Given the description of an element on the screen output the (x, y) to click on. 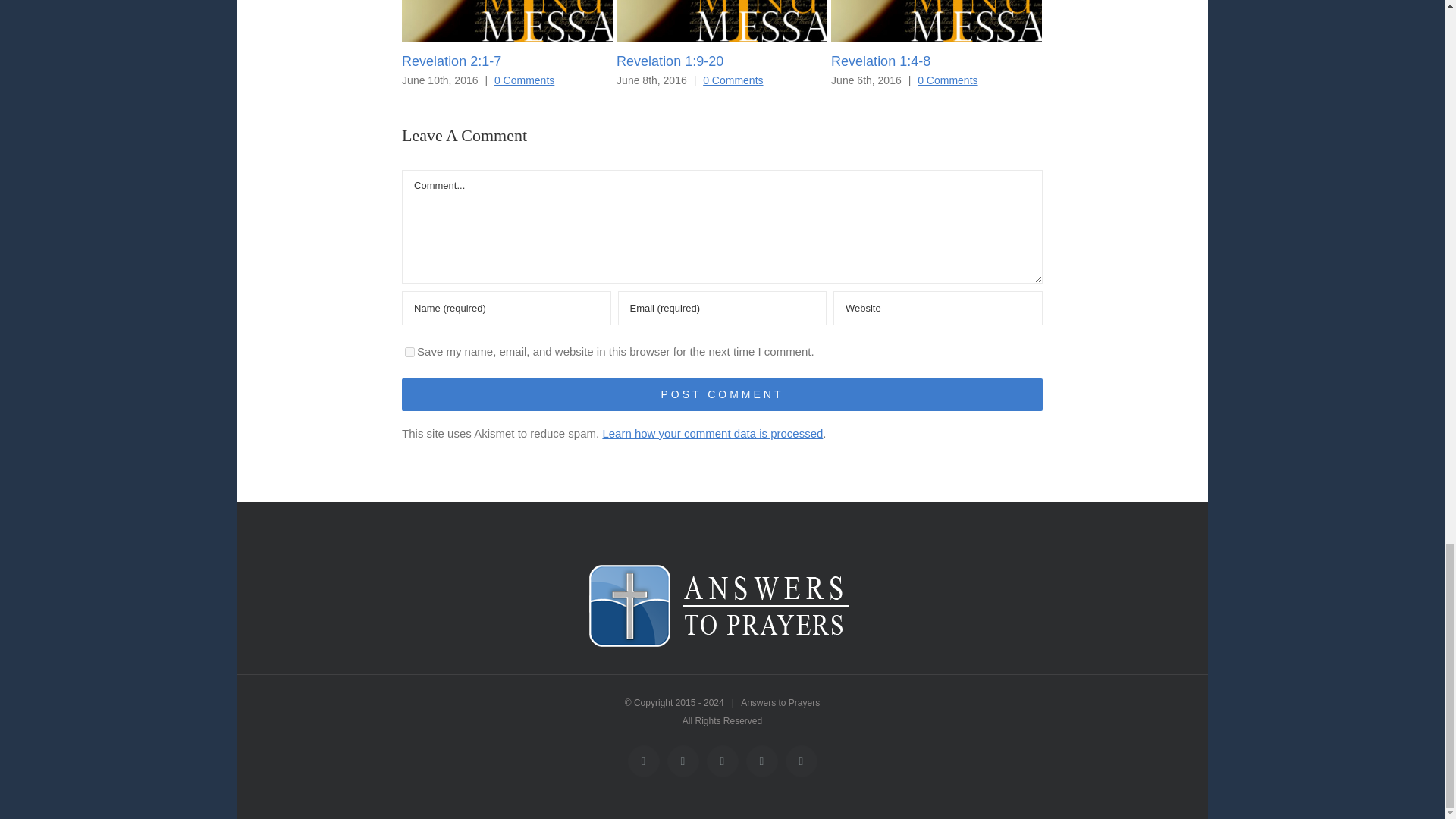
Post Comment (721, 394)
Revelation 2:1-7 (450, 61)
0 Comments (732, 80)
yes (409, 352)
0 Comments (524, 80)
Revelation 1:9-20 (669, 61)
0 Comments (946, 80)
Revelation 1:4-8 (880, 61)
